Given the description of an element on the screen output the (x, y) to click on. 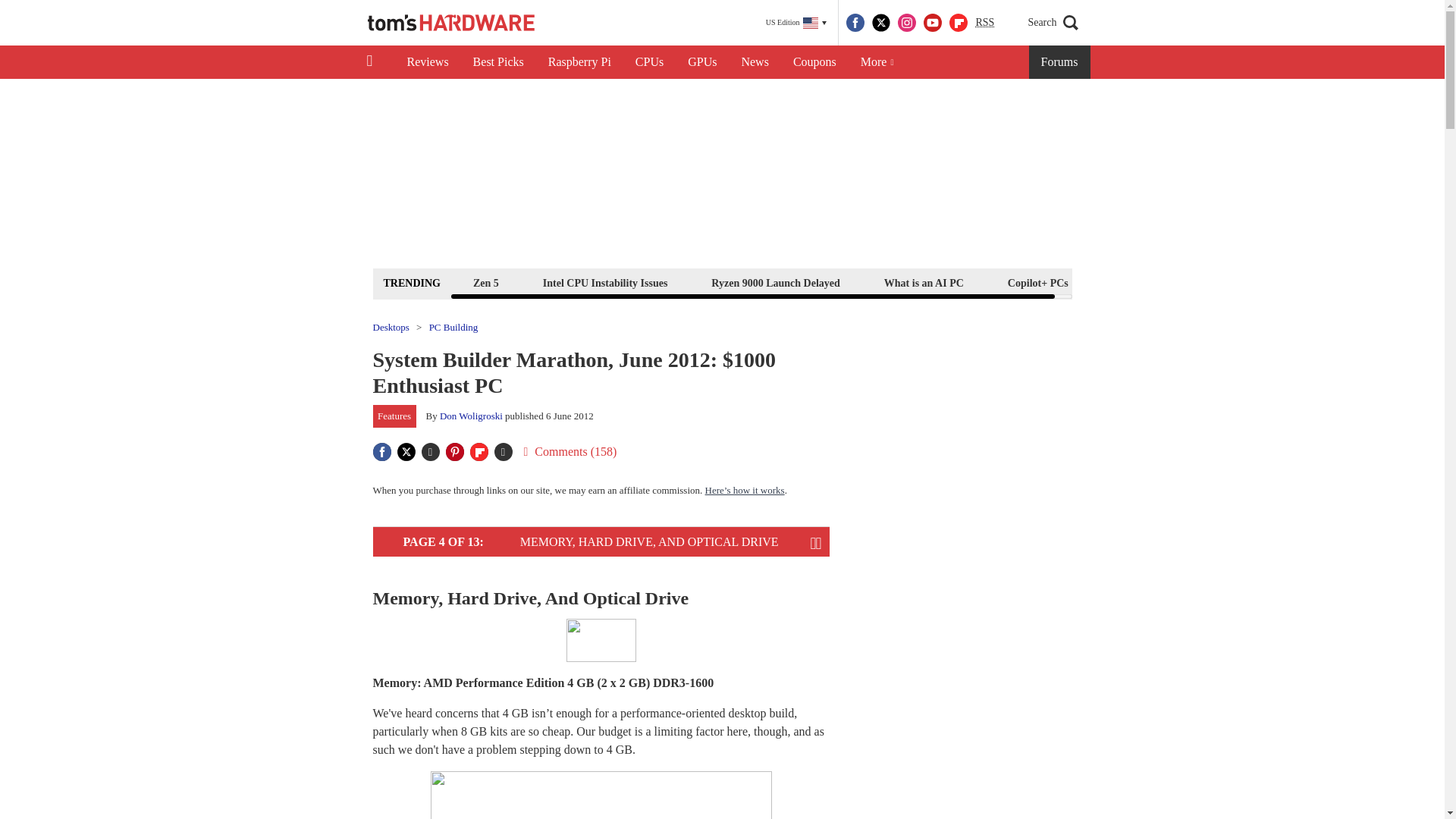
RSS (984, 22)
Forums (1059, 61)
Raspberry Pi (579, 61)
CPUs (649, 61)
Really Simple Syndication (984, 21)
News (754, 61)
Coupons (814, 61)
GPUs (702, 61)
US Edition (796, 22)
Zen 5 (485, 282)
Best Picks (498, 61)
Reviews (427, 61)
